Given the description of an element on the screen output the (x, y) to click on. 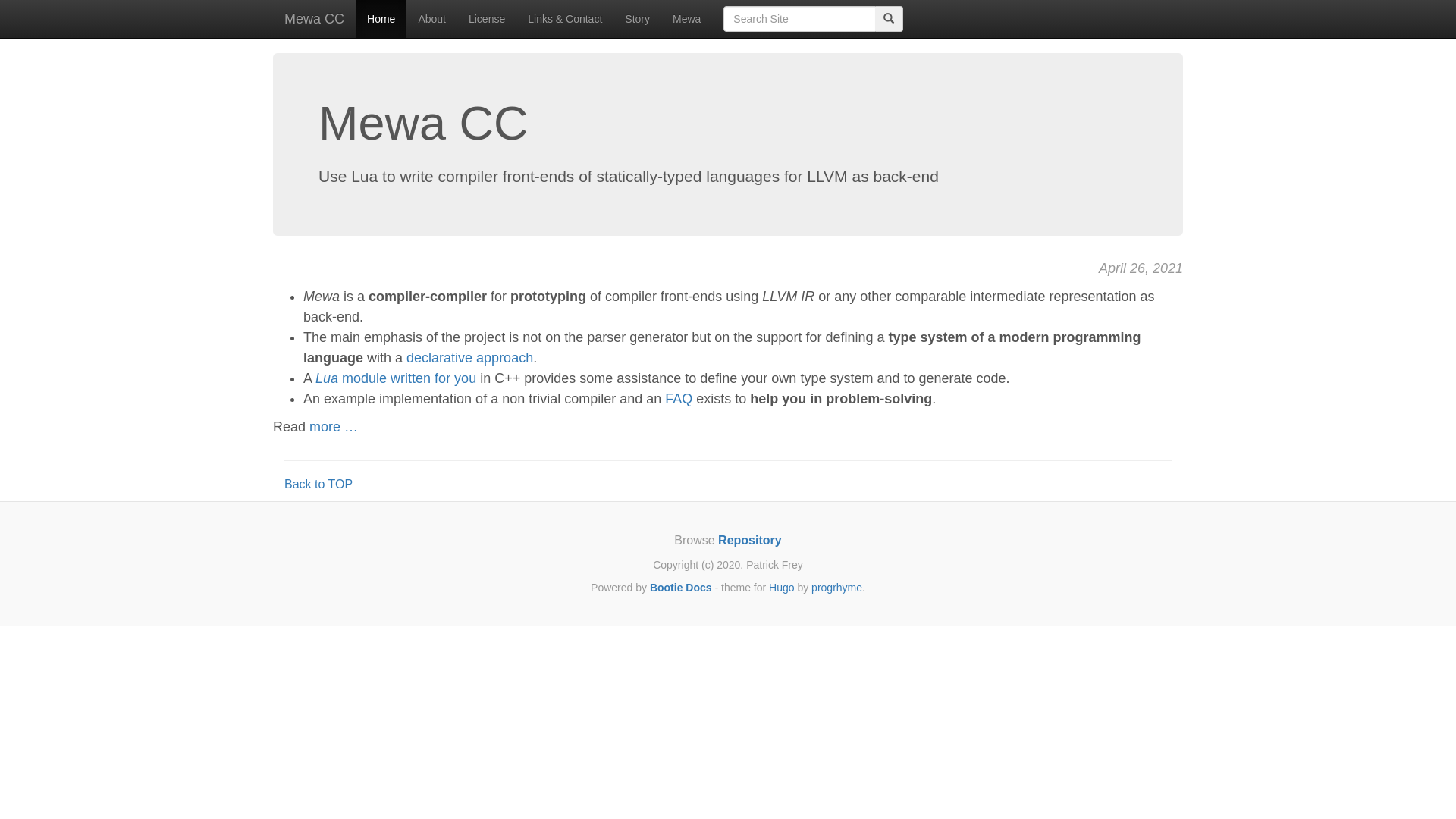
progrhyme Element type: text (836, 587)
Hugo Element type: text (780, 587)
Back to TOP Element type: text (318, 483)
Story Element type: text (637, 18)
declarative approach Element type: text (469, 357)
FAQ Element type: text (678, 398)
Lua module written for you Element type: text (395, 377)
Bootie Docs Element type: text (680, 587)
Repository Element type: text (749, 539)
License Element type: text (486, 18)
Home Element type: text (380, 18)
About Element type: text (431, 18)
Links & Contact Element type: text (564, 18)
Mewa CC Element type: text (314, 18)
Mewa Element type: text (686, 18)
